Given the description of an element on the screen output the (x, y) to click on. 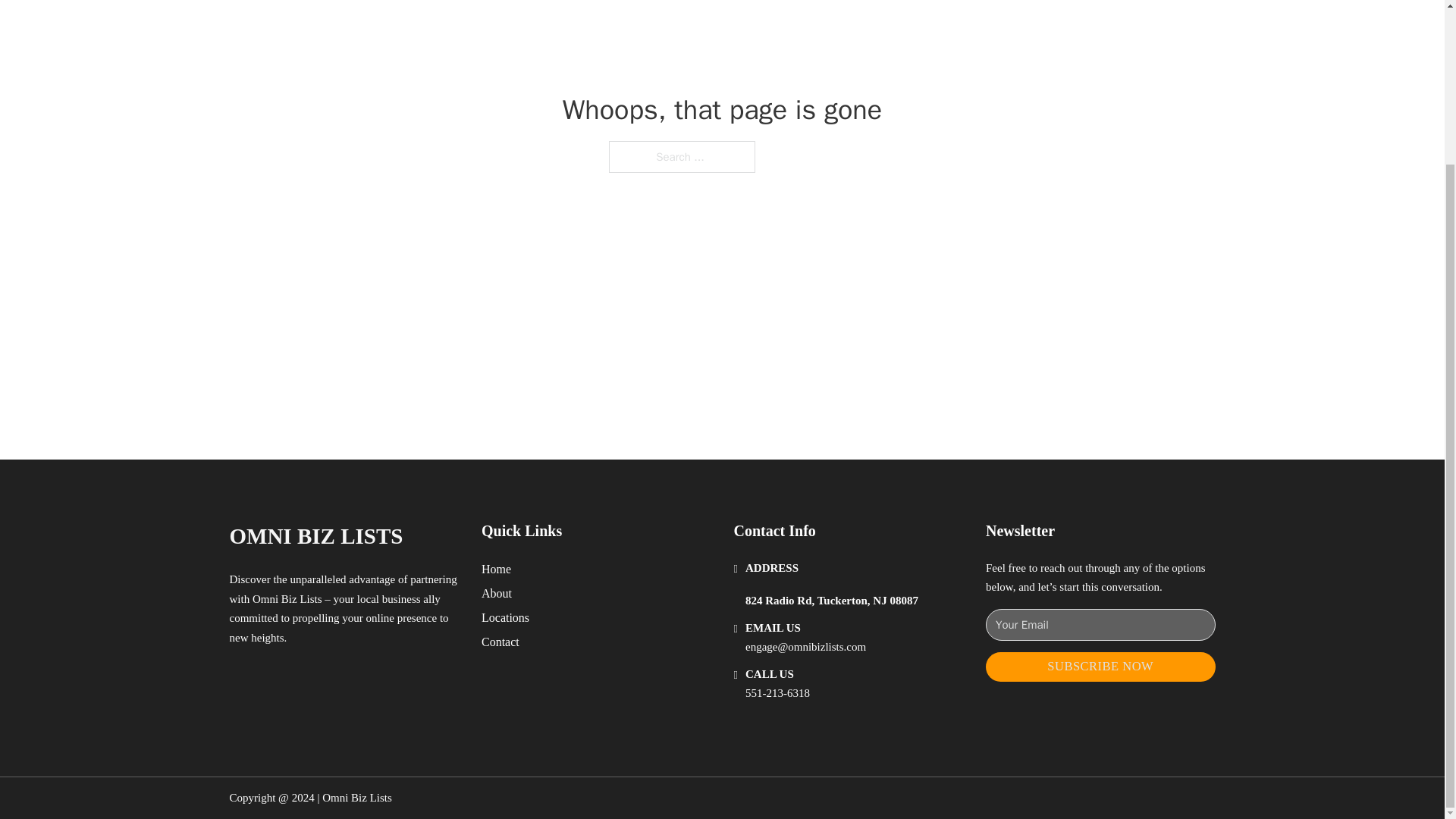
Contact (500, 641)
OMNI BIZ LISTS (315, 536)
Home (496, 568)
551-213-6318 (777, 693)
Locations (505, 617)
SUBSCRIBE NOW (1100, 666)
About (496, 593)
